Given the description of an element on the screen output the (x, y) to click on. 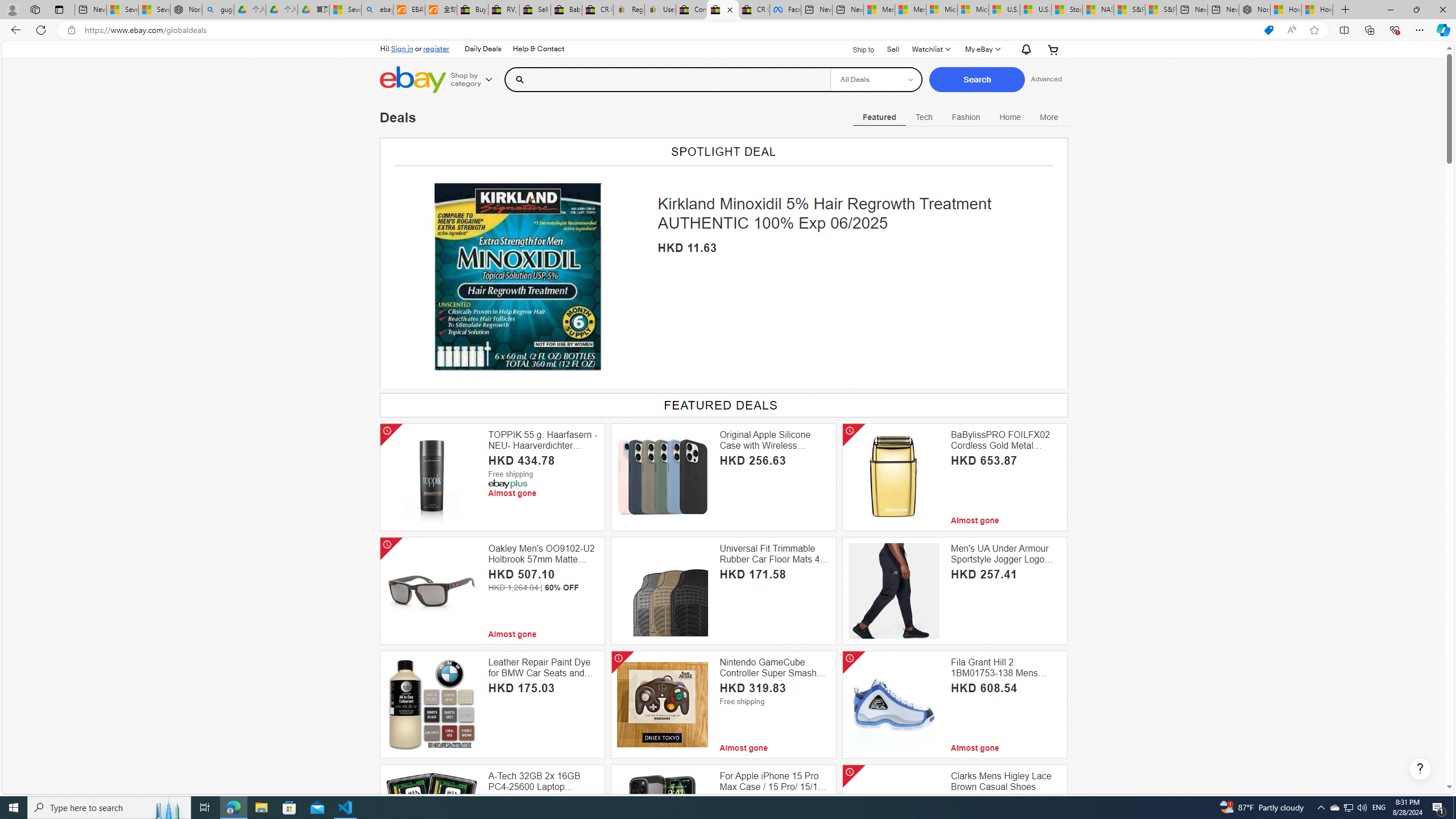
More (1048, 116)
Consumer Health Data Privacy Policy - eBay Inc. (691, 9)
Buy Auto Parts & Accessories | eBay (472, 9)
Sell worldwide with eBay (535, 9)
Help & Contact (538, 49)
Register: Create a personal eBay account (628, 9)
eBay Home (413, 79)
This site has coupons! Shopping in Microsoft Edge (1268, 29)
Class: navigation-desktop-with-flyout open-left (1048, 114)
